Given the description of an element on the screen output the (x, y) to click on. 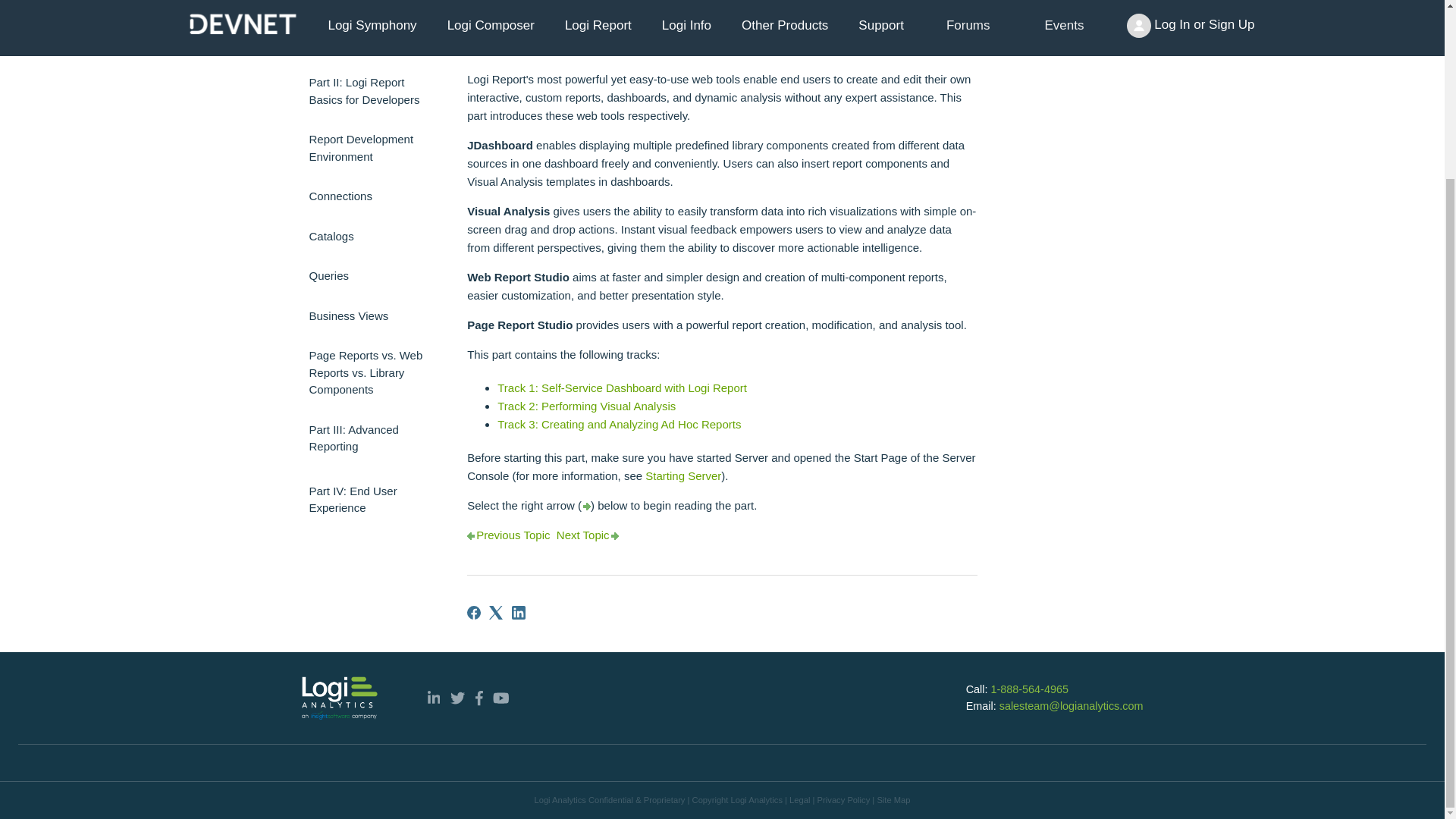
Part IV: End User Experience (373, 499)
Find Logi Analytics on YouTube (501, 698)
Find Logi Analytics on Twitter (456, 698)
